Given the description of an element on the screen output the (x, y) to click on. 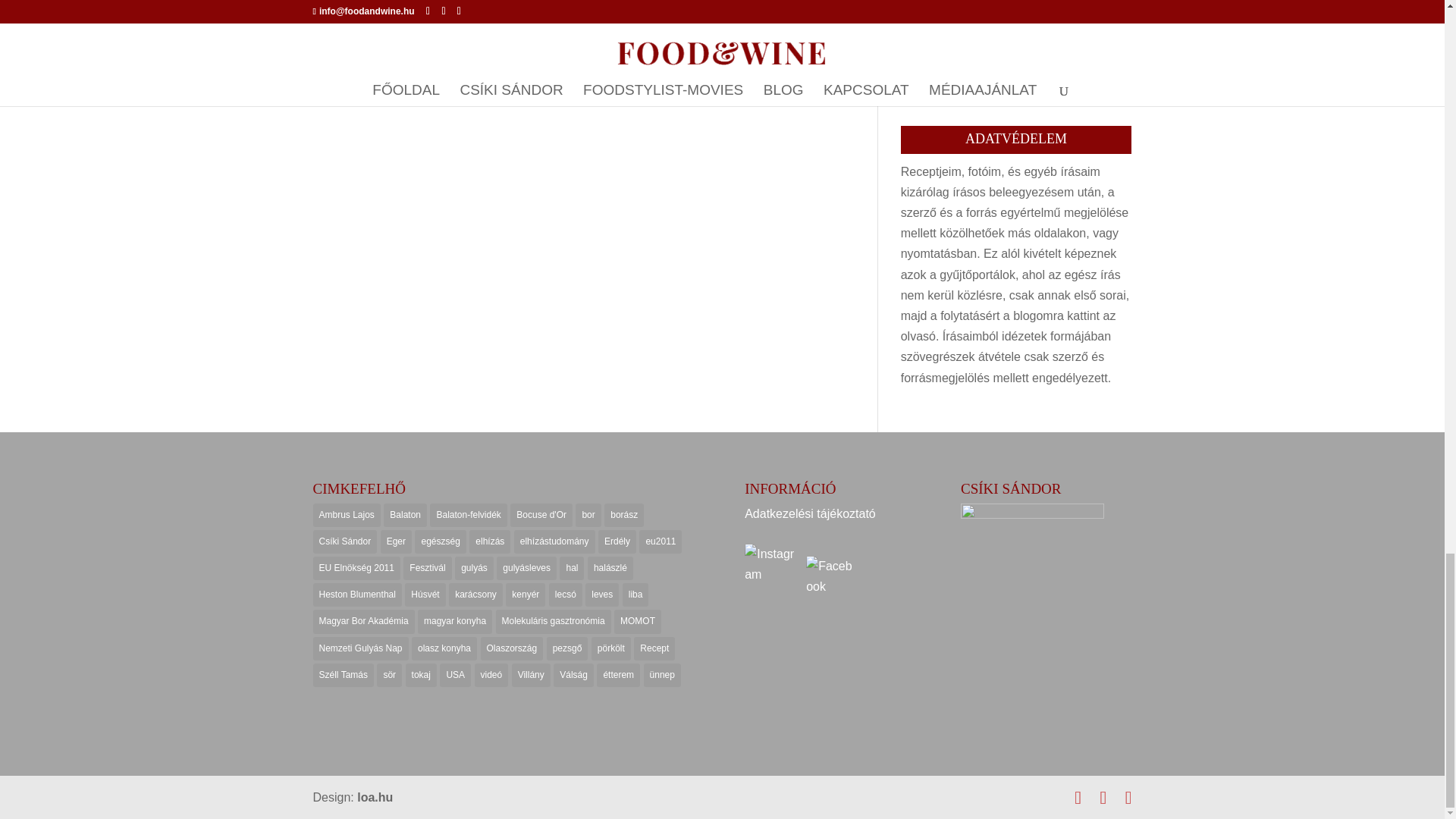
Ambrus Lajos (346, 515)
bor (587, 515)
Bocuse d'Or (541, 515)
Balaton (405, 515)
